Given the description of an element on the screen output the (x, y) to click on. 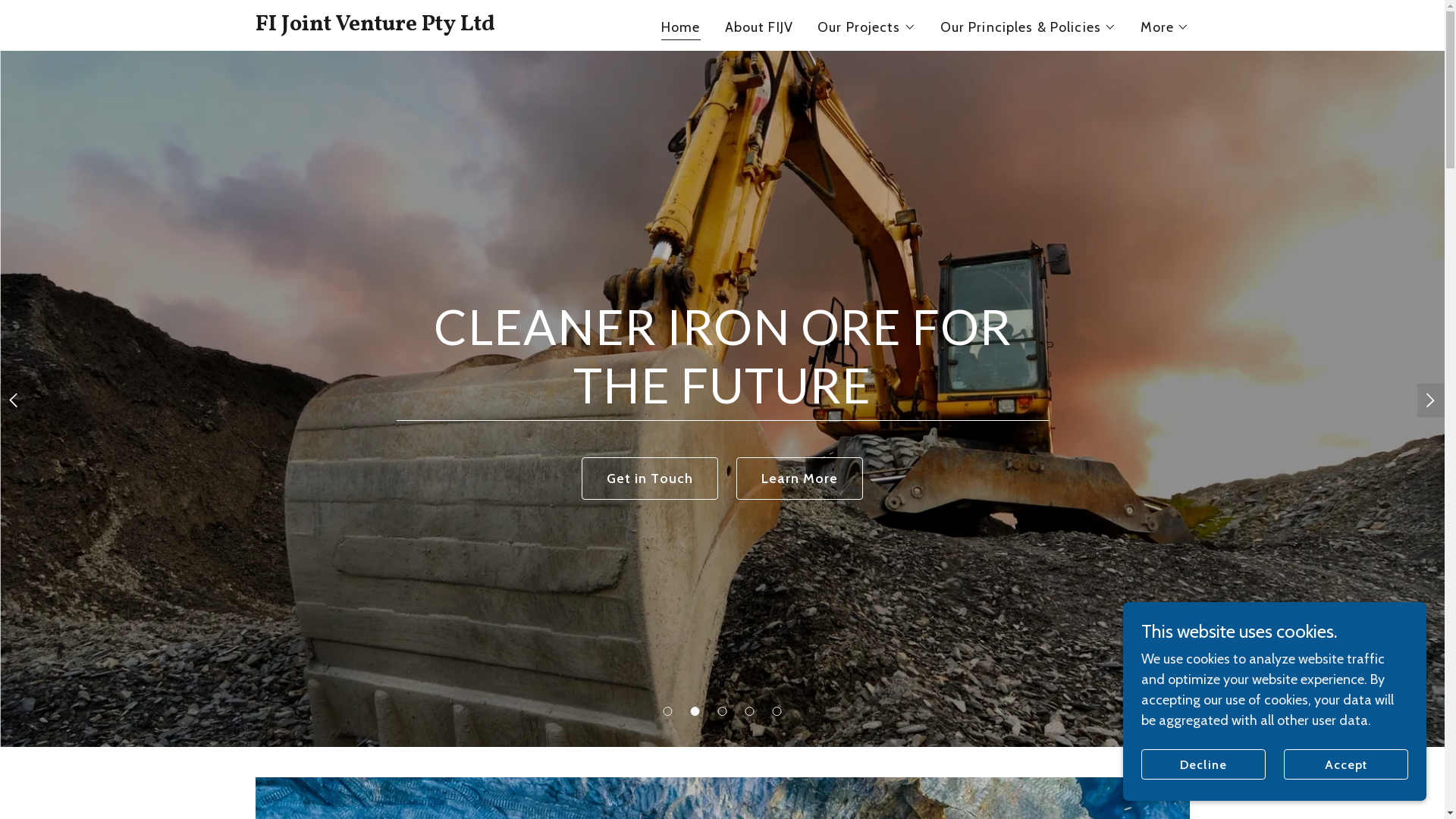
Decline Element type: text (1203, 764)
Our Projects Element type: text (866, 27)
About FIJV Element type: text (758, 26)
More Element type: text (1164, 27)
Our Principles & Policies Element type: text (1028, 27)
Get in Touch Element type: text (649, 478)
Learn More Element type: text (799, 478)
Home Element type: text (680, 29)
FI Joint Venture Pty Ltd Element type: text (417, 25)
Accept Element type: text (1345, 764)
